Given the description of an element on the screen output the (x, y) to click on. 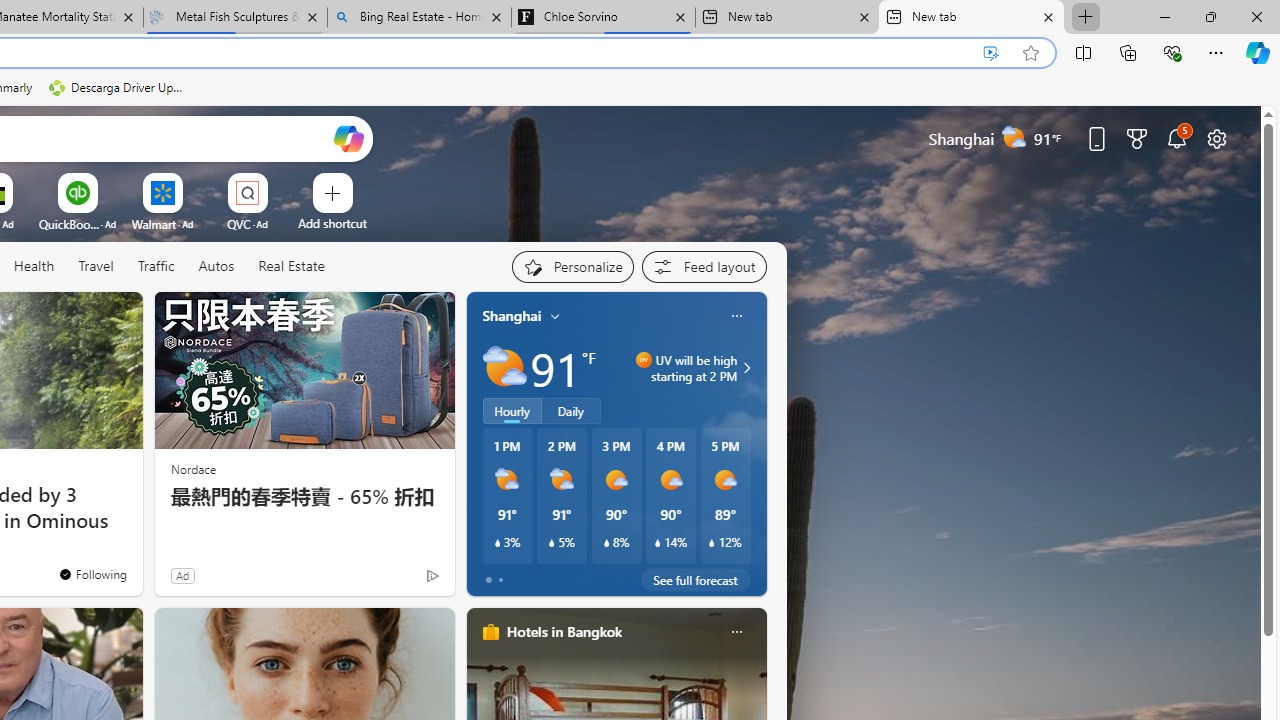
Personalize your feed" (571, 266)
Hotels in Bangkok (563, 631)
Class: icon-img (736, 632)
You're following Newsweek (92, 573)
Daily (571, 411)
Bing Real Estate - Home sales and rental listings (418, 17)
Feed settings (703, 266)
Add a site (332, 223)
